Given the description of an element on the screen output the (x, y) to click on. 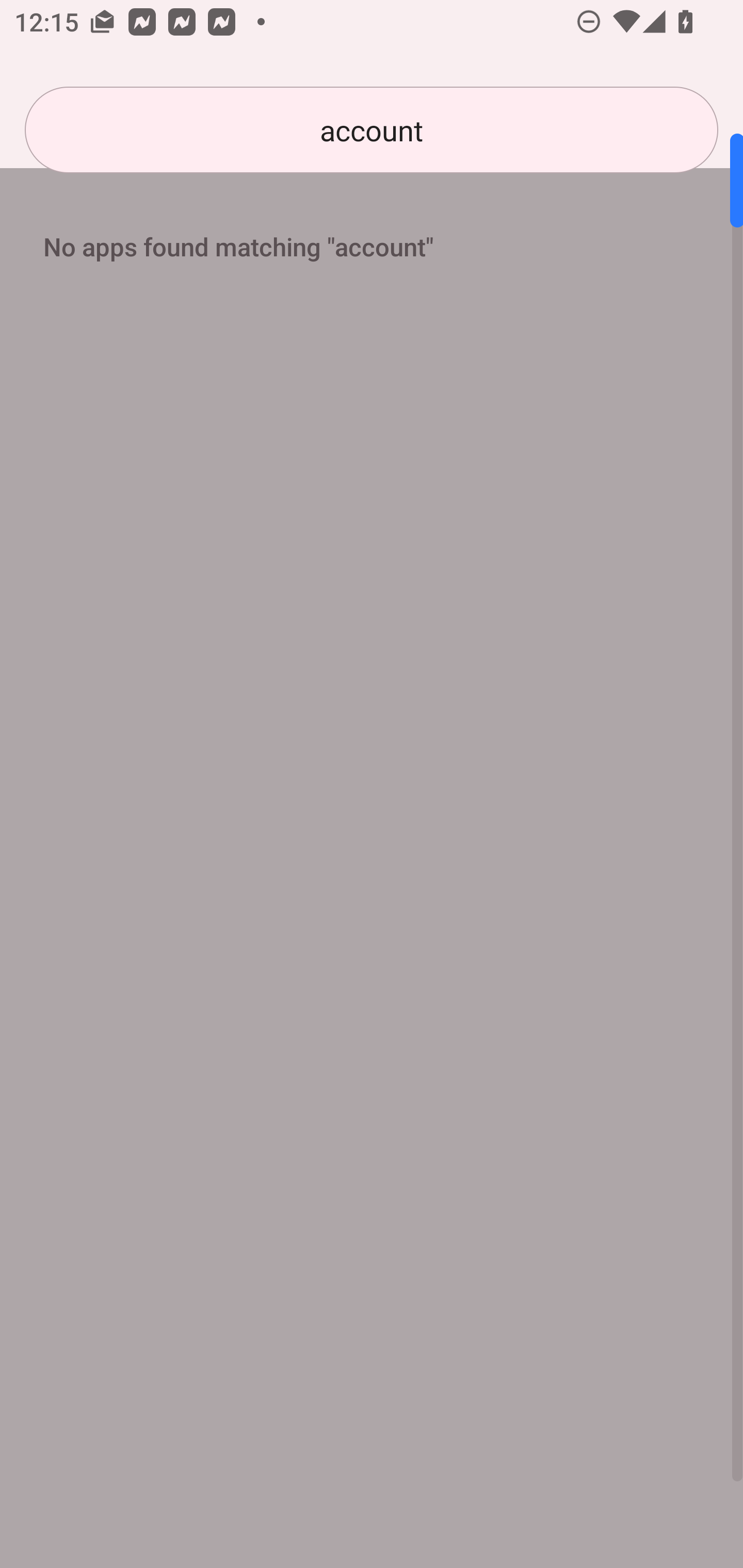
account (371, 130)
